Given the description of an element on the screen output the (x, y) to click on. 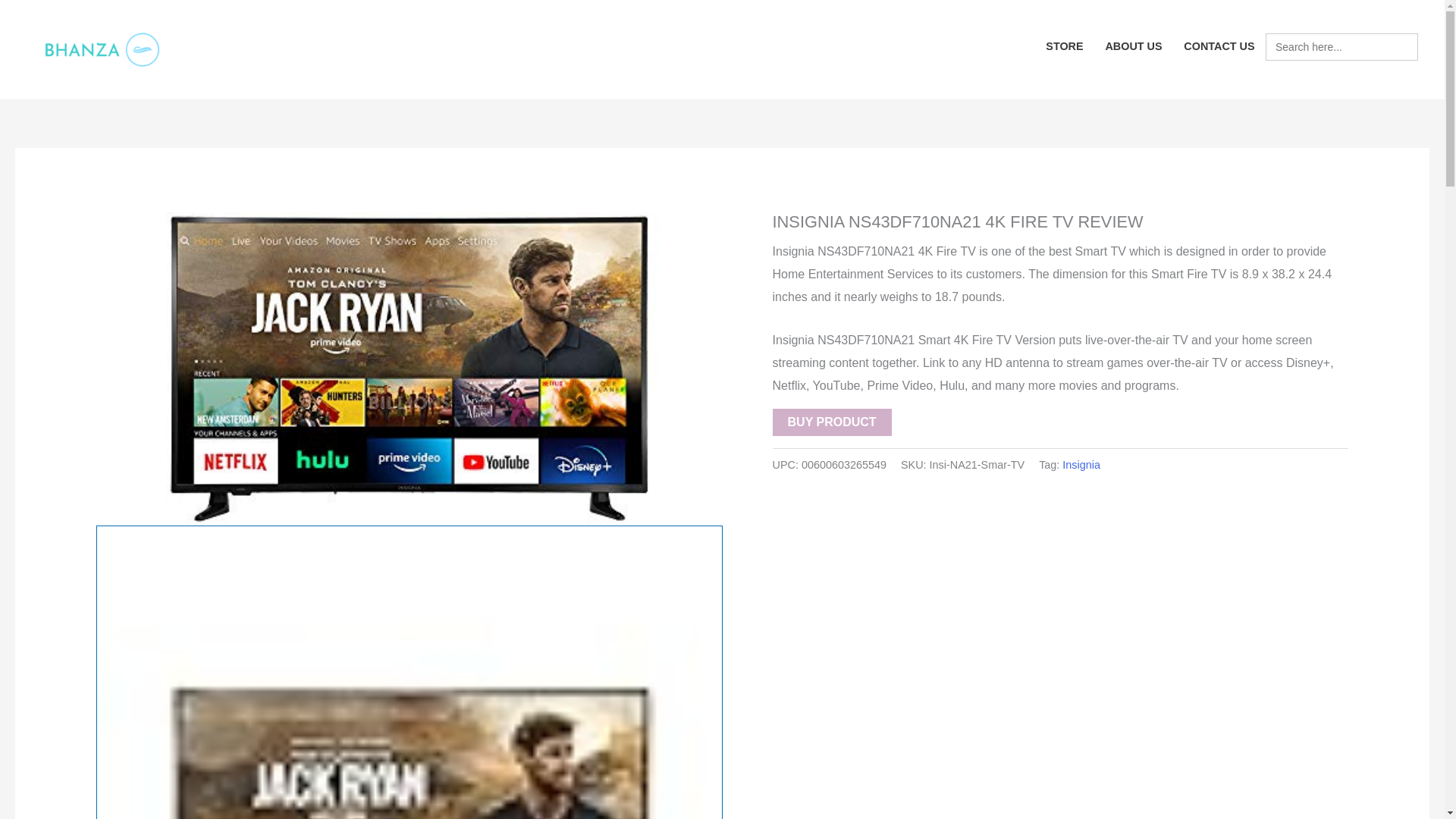
BUY PRODUCT (832, 421)
Insignia (1081, 464)
CONTACT US (1219, 46)
ABOUT US (1133, 46)
STORE (1064, 46)
